Given the description of an element on the screen output the (x, y) to click on. 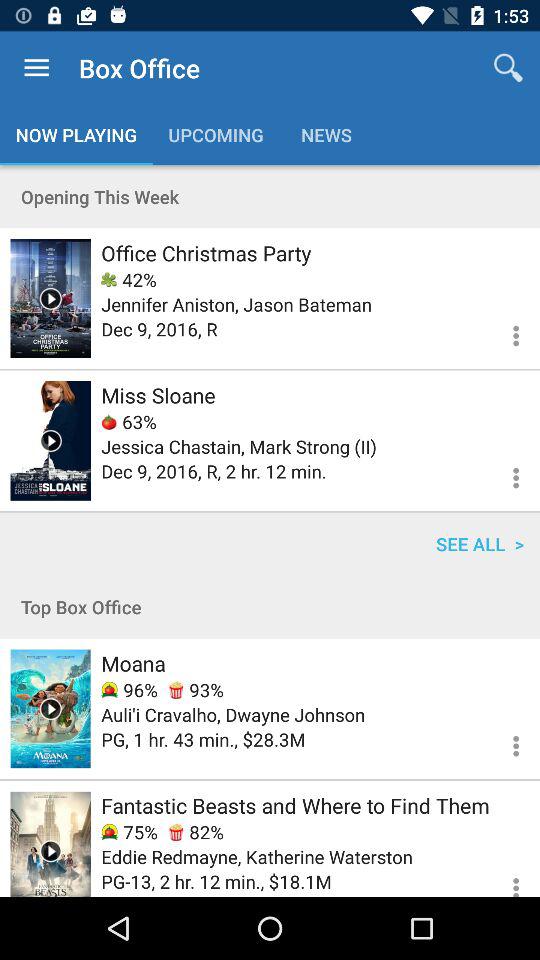
choose the icon above eddie redmayne katherine icon (129, 831)
